Given the description of an element on the screen output the (x, y) to click on. 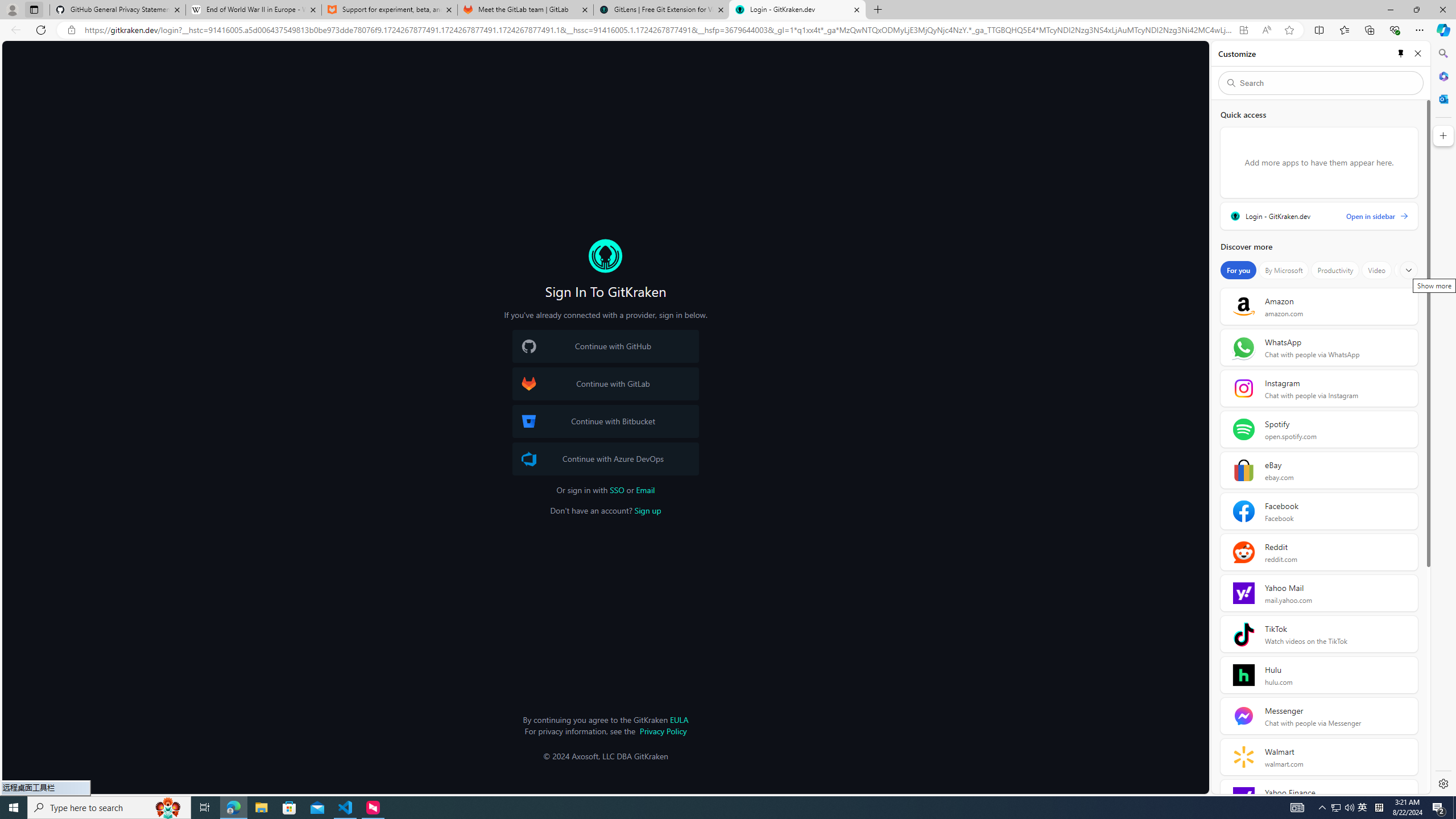
GitHub Logo Continue with GitHub (605, 346)
Sign up (647, 510)
Show more (1408, 270)
By Microsoft (1282, 270)
Email (645, 489)
Privacy Policy (663, 730)
Music (1409, 270)
